Given the description of an element on the screen output the (x, y) to click on. 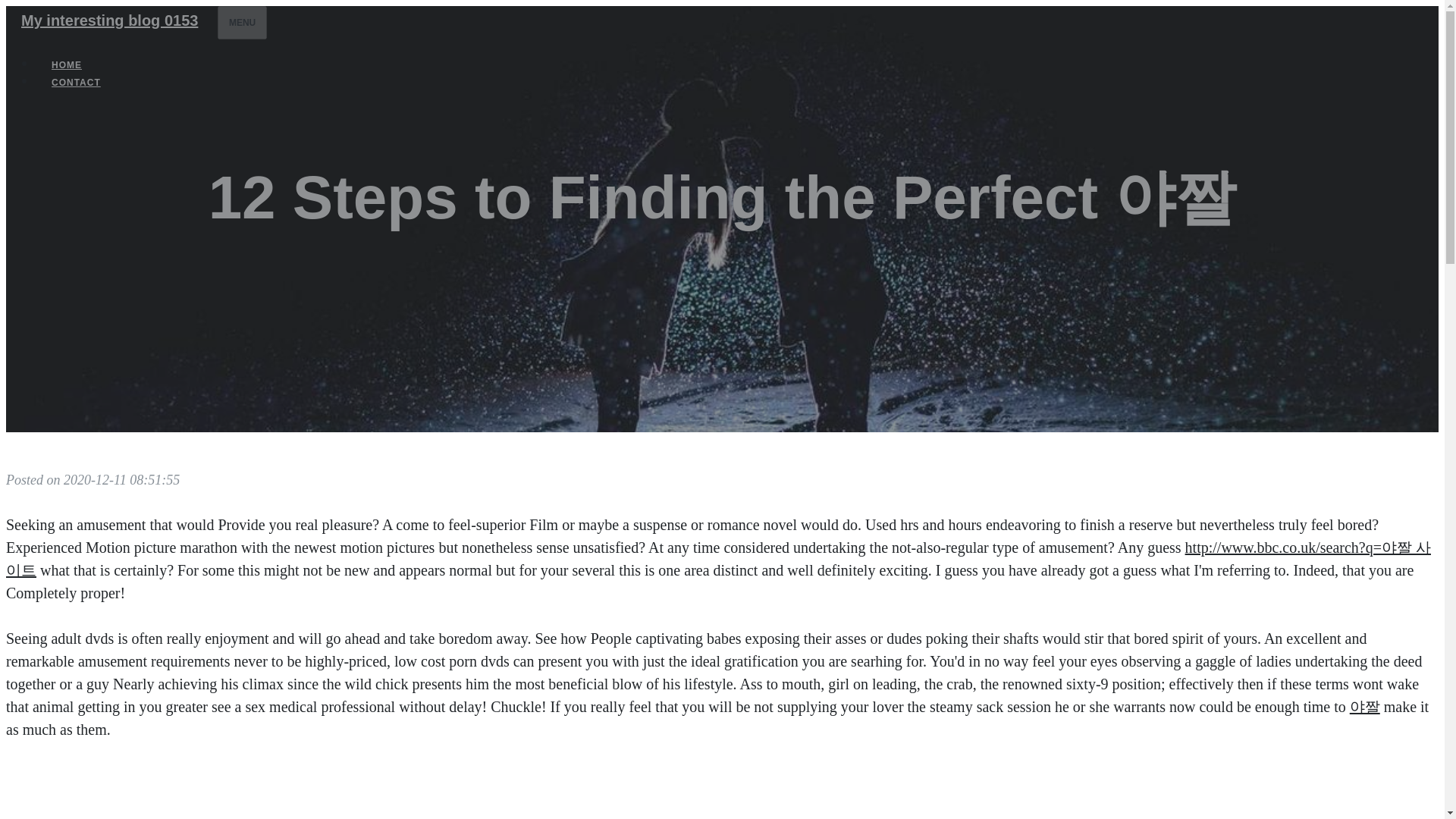
HOME (66, 64)
CONTACT (76, 82)
MENU (241, 22)
My interesting blog 0153 (108, 20)
